Given the description of an element on the screen output the (x, y) to click on. 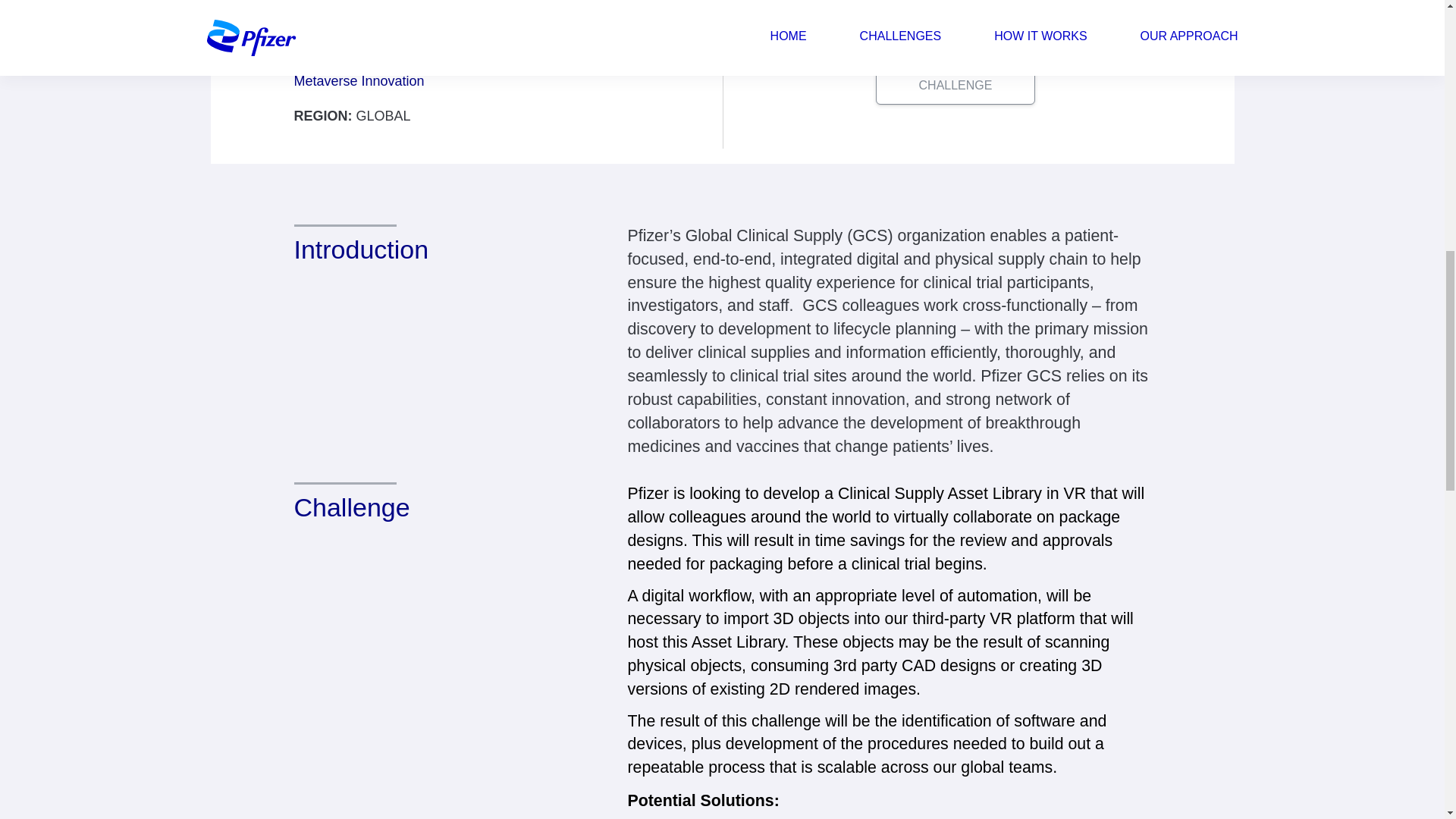
SHARE CHALLENGE (955, 77)
